Given the description of an element on the screen output the (x, y) to click on. 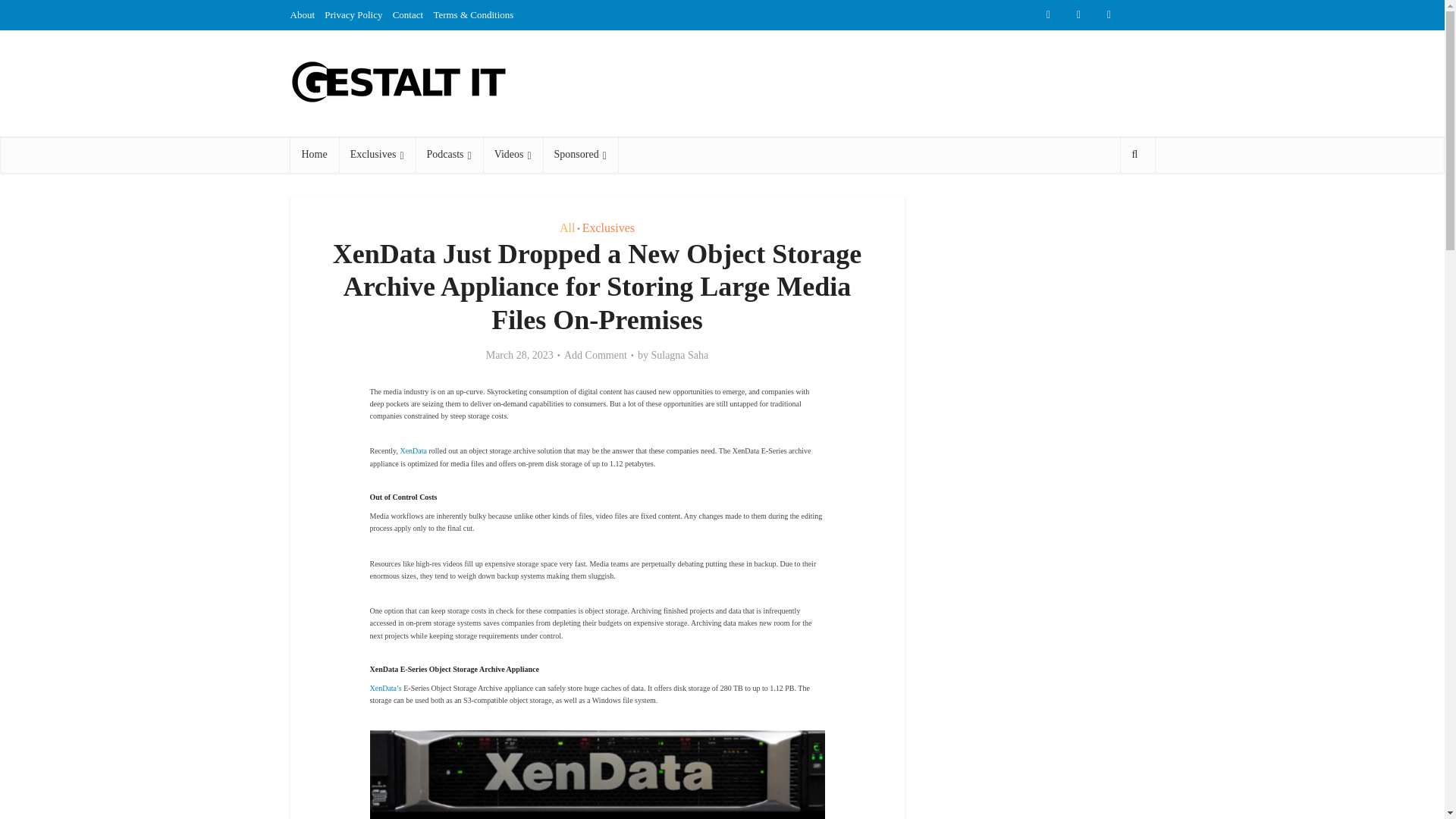
Privacy Policy (352, 14)
Podcasts (448, 154)
Home (313, 154)
Videos (513, 154)
Contact (408, 14)
About (301, 14)
Sponsored (580, 154)
Exclusives (376, 154)
